Given the description of an element on the screen output the (x, y) to click on. 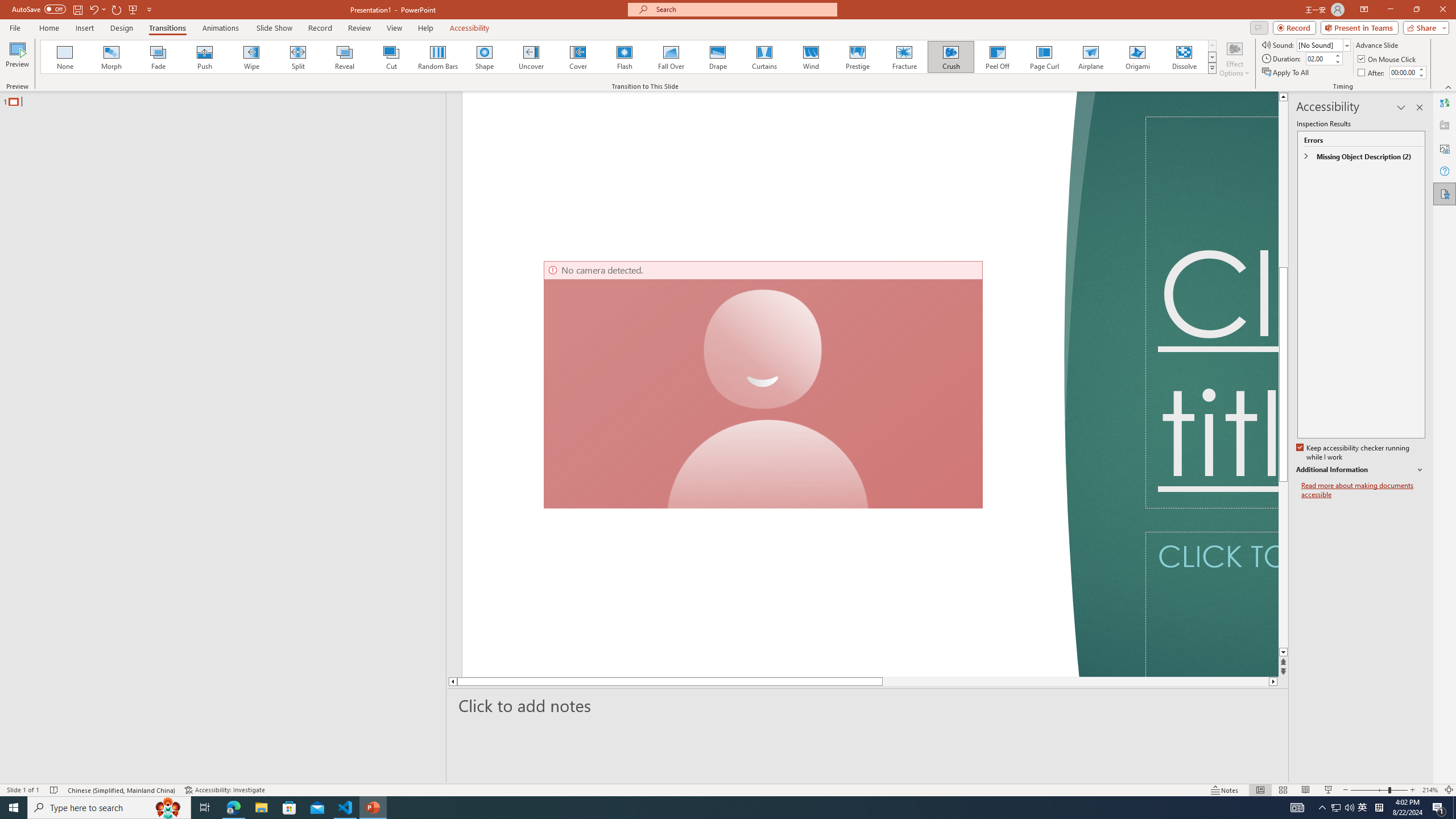
Decorative Locked (779, 383)
Origami (1136, 56)
Prestige (857, 56)
